Given the description of an element on the screen output the (x, y) to click on. 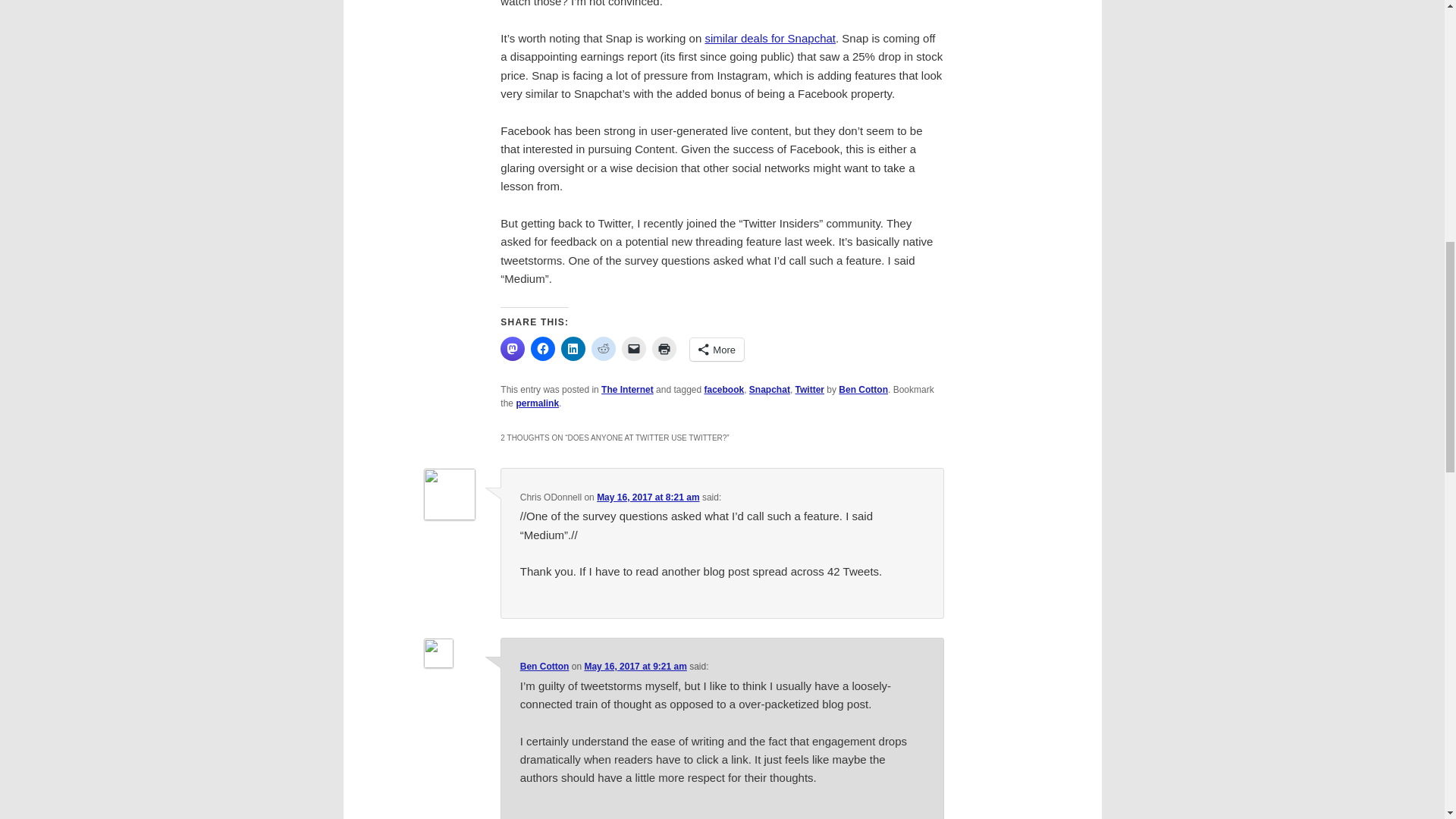
Click to print (664, 348)
Click to share on Mastodon (512, 348)
May 16, 2017 at 8:21 am (647, 497)
Click to email a link to a friend (633, 348)
Click to share on LinkedIn (572, 348)
Twitter (809, 389)
Click to share on Reddit (603, 348)
Ben Cotton (544, 665)
facebook (723, 389)
May 16, 2017 at 9:21 am (634, 665)
